Given the description of an element on the screen output the (x, y) to click on. 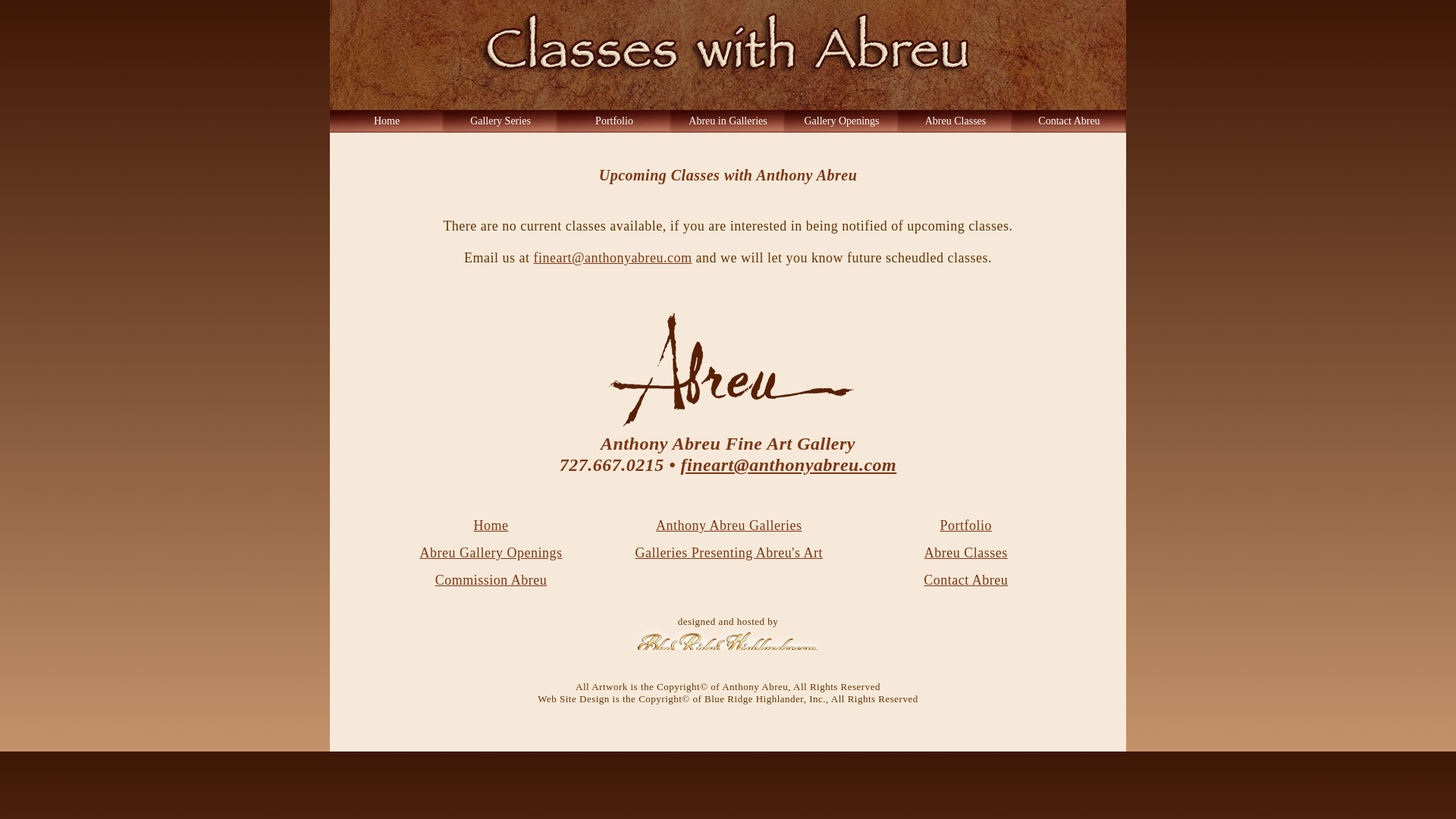
Portfolio (614, 120)
Portfolio (614, 120)
Contact Abreu (1068, 120)
Galleries (727, 120)
Portfolio (966, 525)
Abreu Classes (954, 120)
Classes (954, 120)
Openings (841, 120)
Home (387, 120)
Abreu Gallery Openings (491, 552)
